Given the description of an element on the screen output the (x, y) to click on. 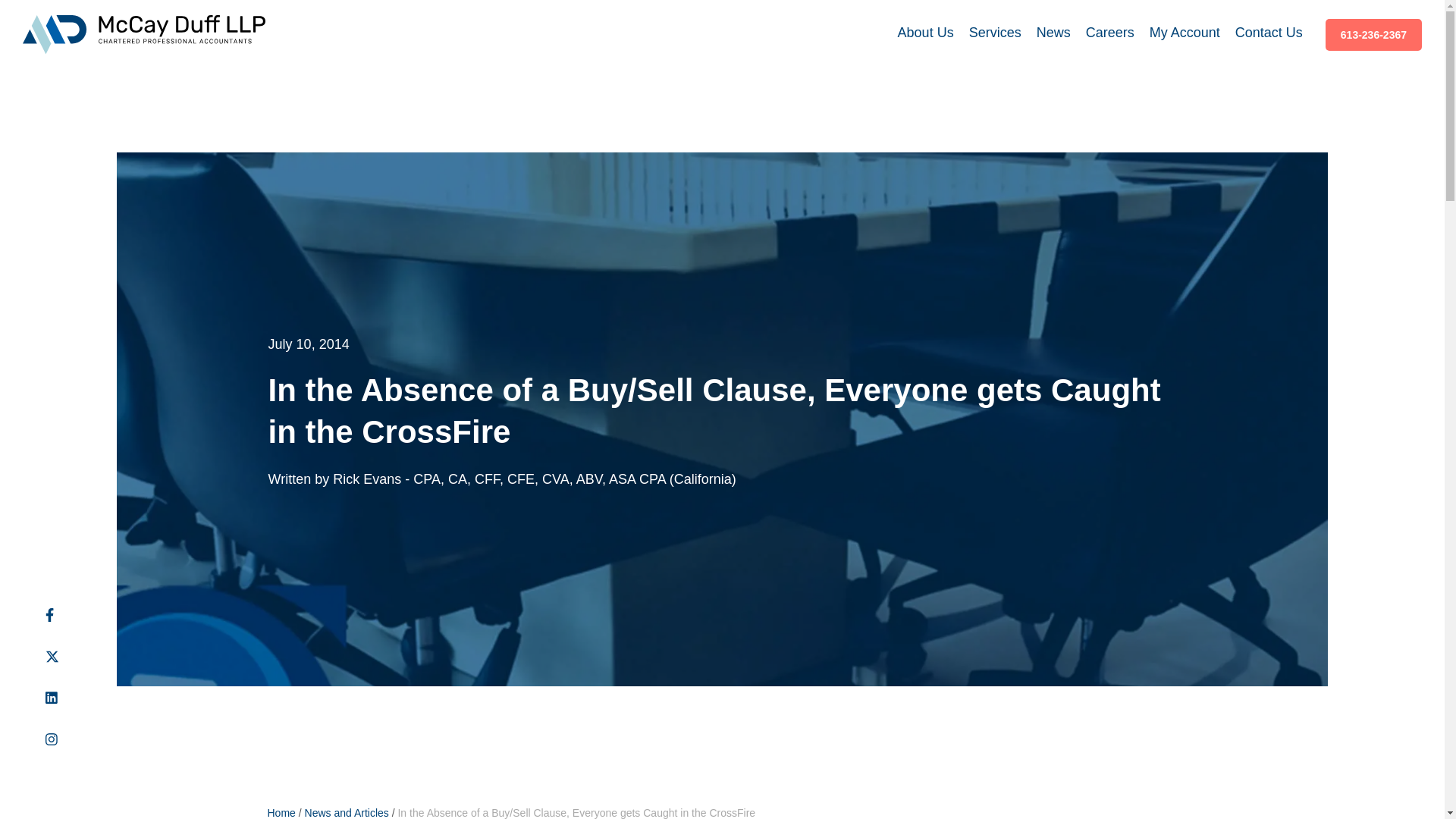
News (1053, 33)
613-236-2367 (1373, 34)
About Us (925, 33)
Services (995, 33)
Careers (1110, 33)
My Account (1185, 33)
Contact Us (1268, 33)
